Given the description of an element on the screen output the (x, y) to click on. 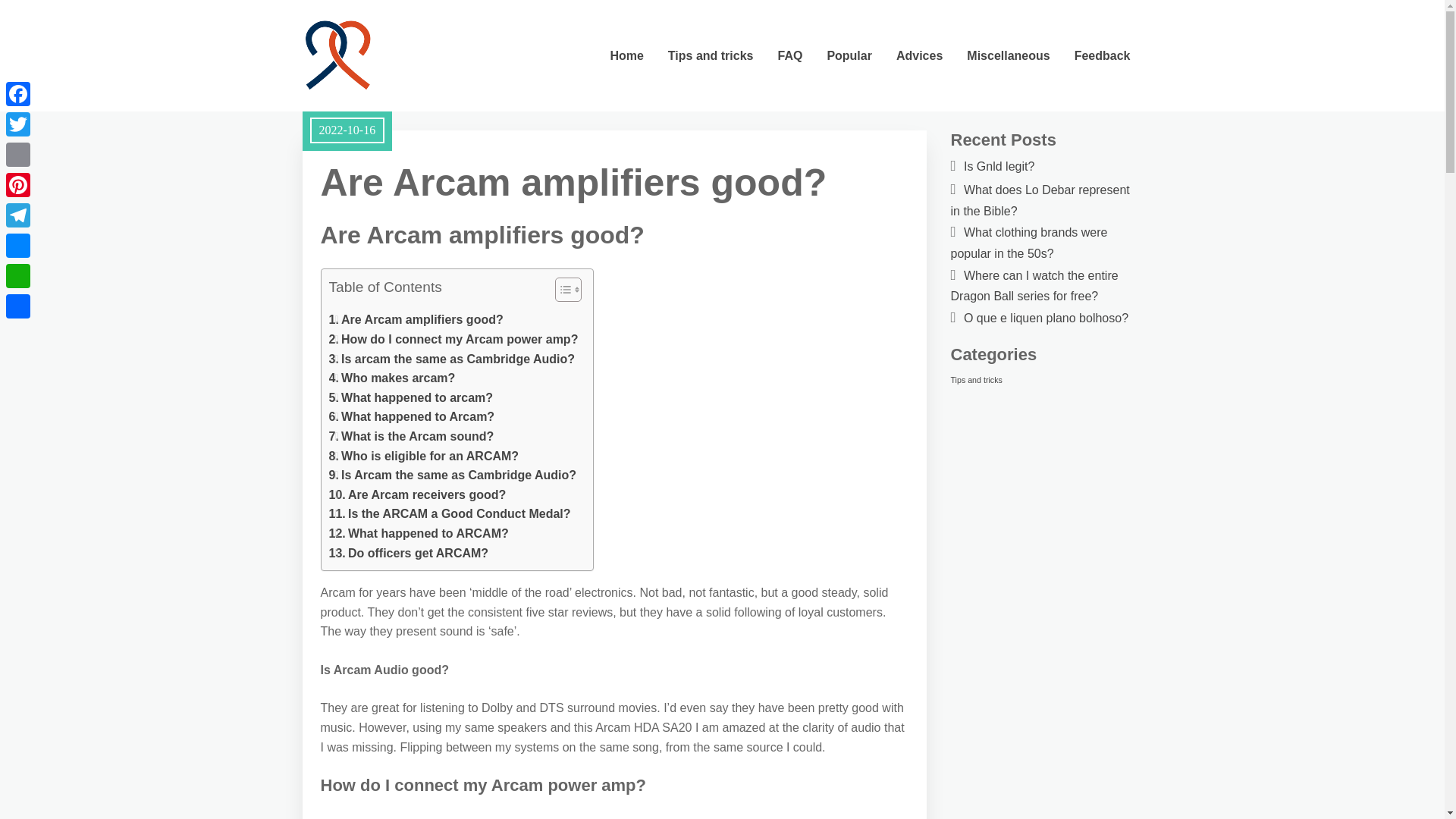
Are Arcam amplifiers good? (416, 320)
Popular (848, 54)
Tips and tricks (710, 54)
What happened to ARCAM? (418, 533)
Who makes arcam? (392, 378)
Miscellaneous (1008, 54)
Do officers get ARCAM? (409, 553)
What is the Arcam sound? (412, 436)
Is arcam the same as Cambridge Audio? (452, 359)
Are Arcam receivers good? (417, 495)
Are Arcam receivers good? (417, 495)
What happened to arcam? (411, 397)
Is the ARCAM a Good Conduct Medal? (449, 514)
How do I connect my Arcam power amp? (453, 339)
What happened to Arcam? (412, 416)
